Given the description of an element on the screen output the (x, y) to click on. 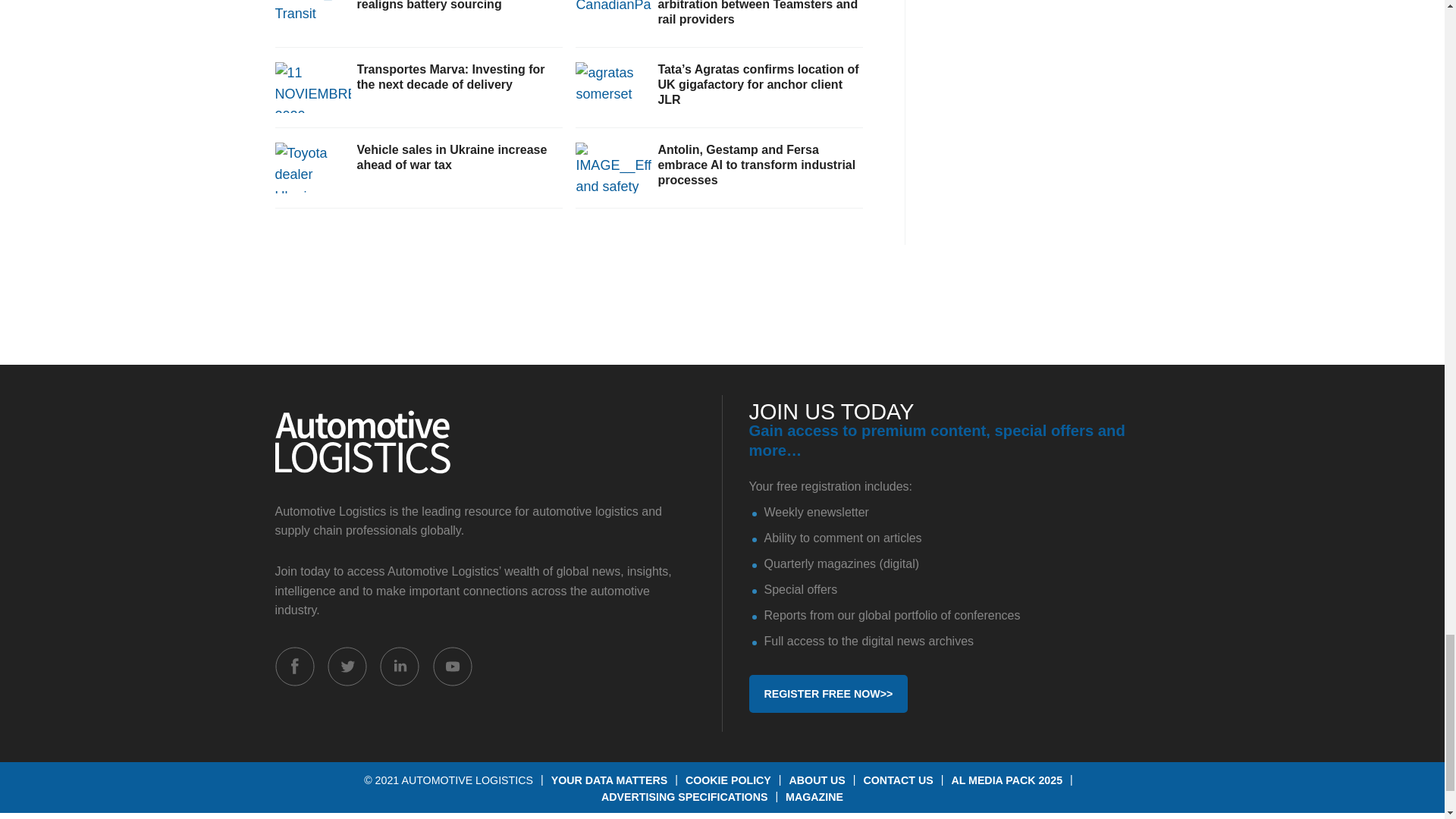
Connect with us on Twitter (346, 666)
Connect with us on Linked In (399, 666)
Connect with us on Facebook (294, 666)
Connect with us on Youtube (451, 666)
